Given the description of an element on the screen output the (x, y) to click on. 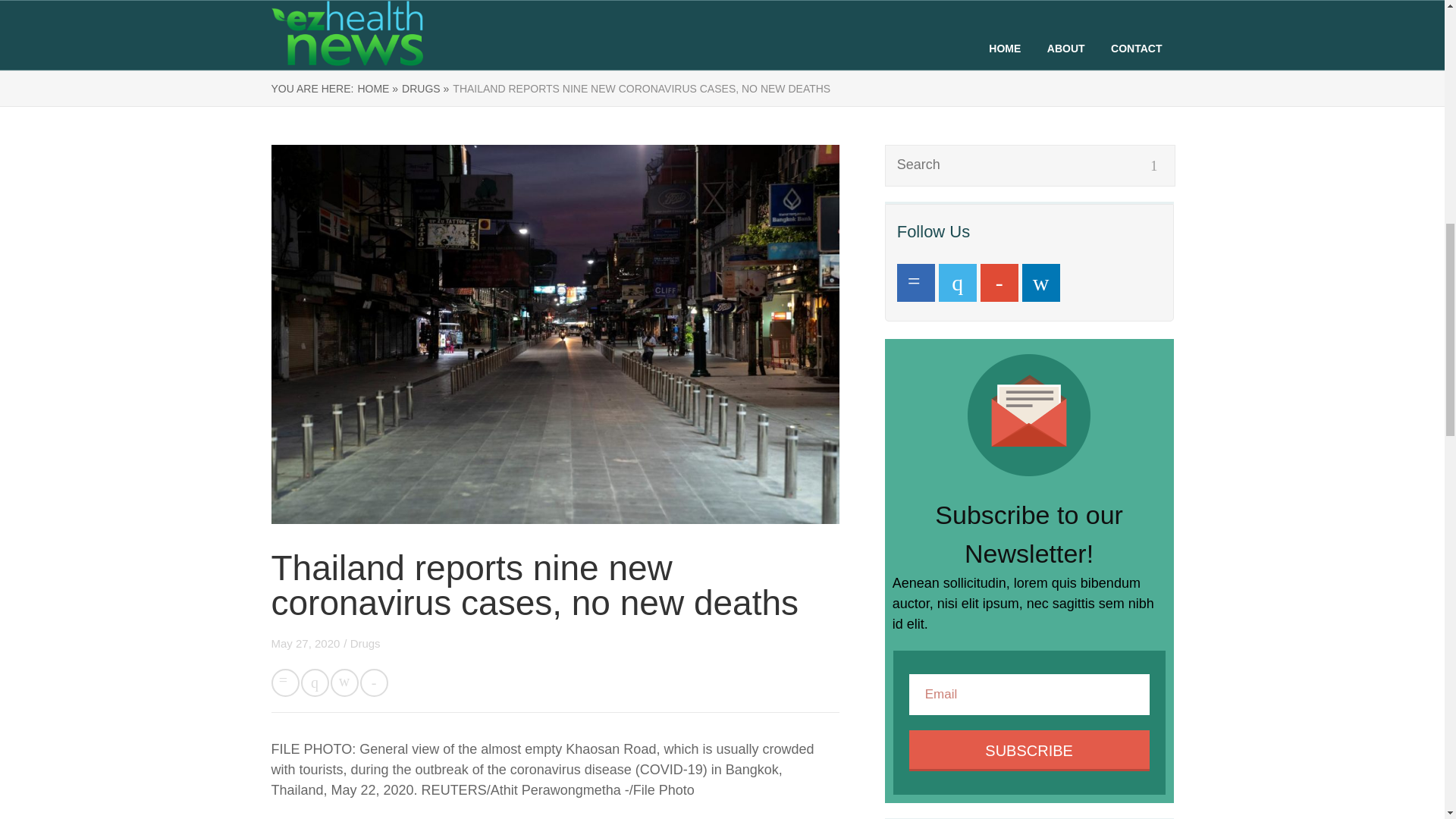
Drugs (365, 643)
HOME (1004, 48)
ABOUT (1065, 48)
CONTACT (1135, 48)
SUBSCRIBE (1029, 750)
